Given the description of an element on the screen output the (x, y) to click on. 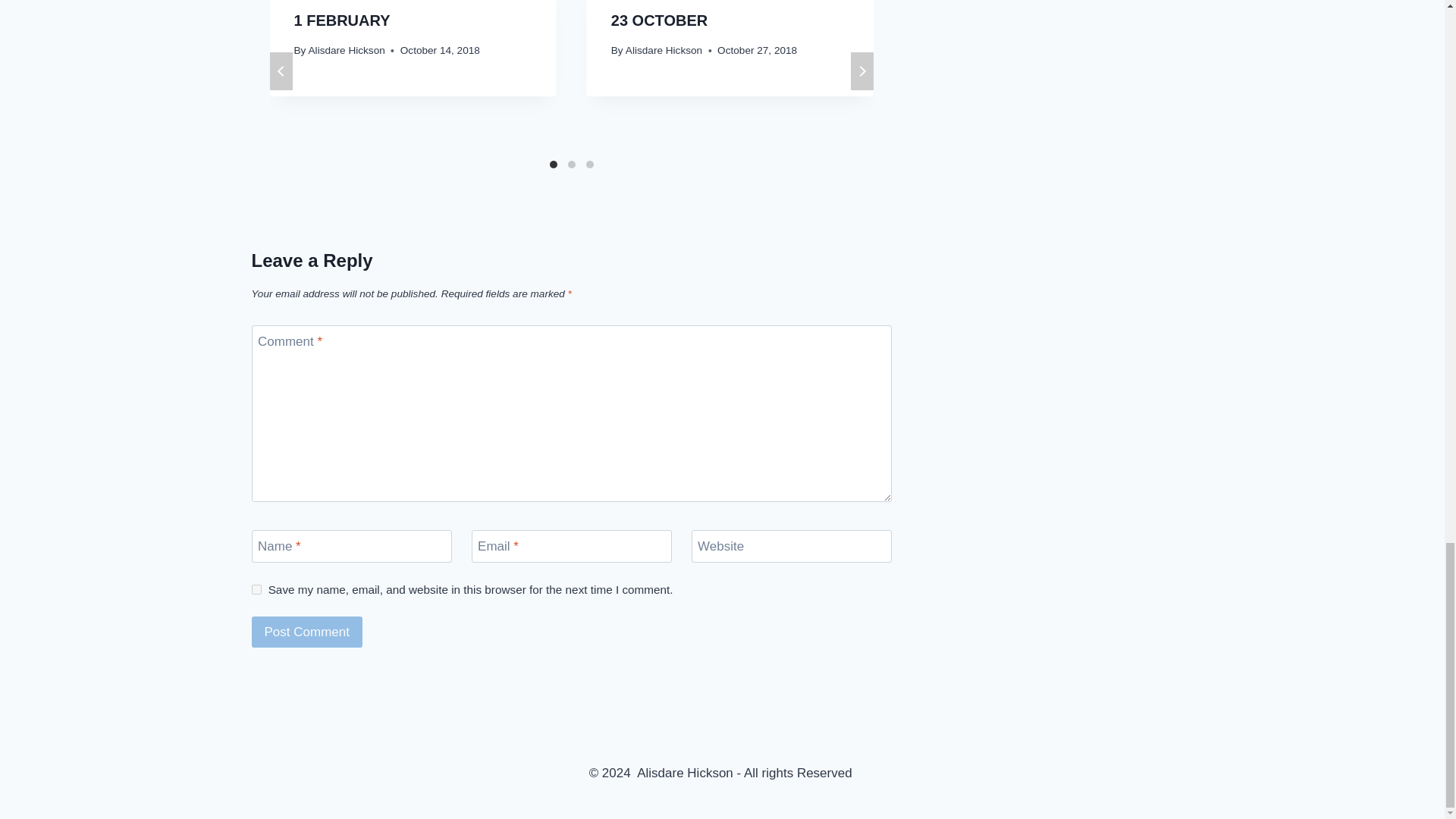
yes (256, 589)
Post Comment (306, 631)
